Given the description of an element on the screen output the (x, y) to click on. 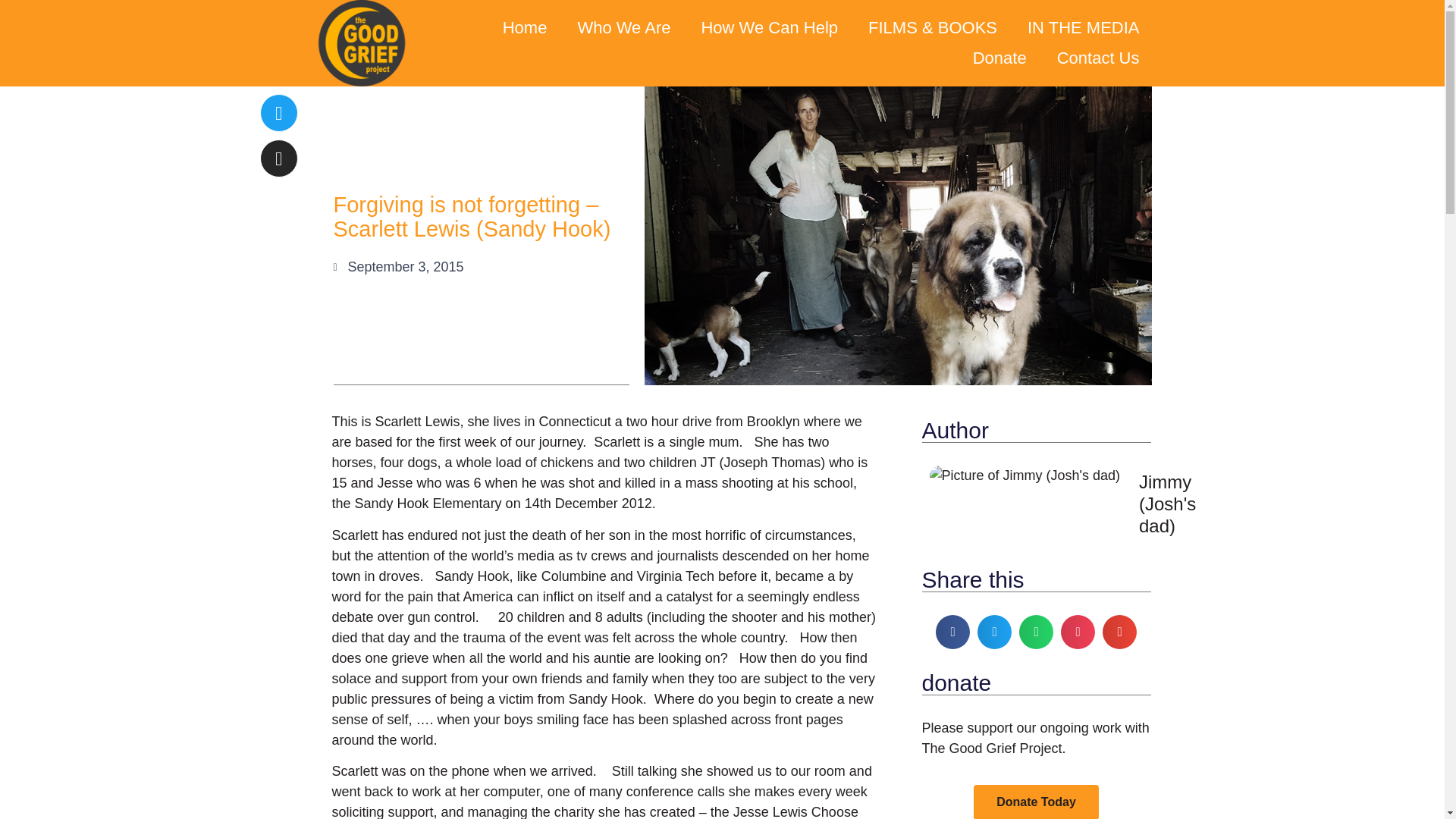
IN THE MEDIA (1082, 28)
Donate (1000, 58)
Contact Us (1098, 58)
Home (524, 28)
How We Can Help (769, 28)
Who We Are (623, 28)
